Given the description of an element on the screen output the (x, y) to click on. 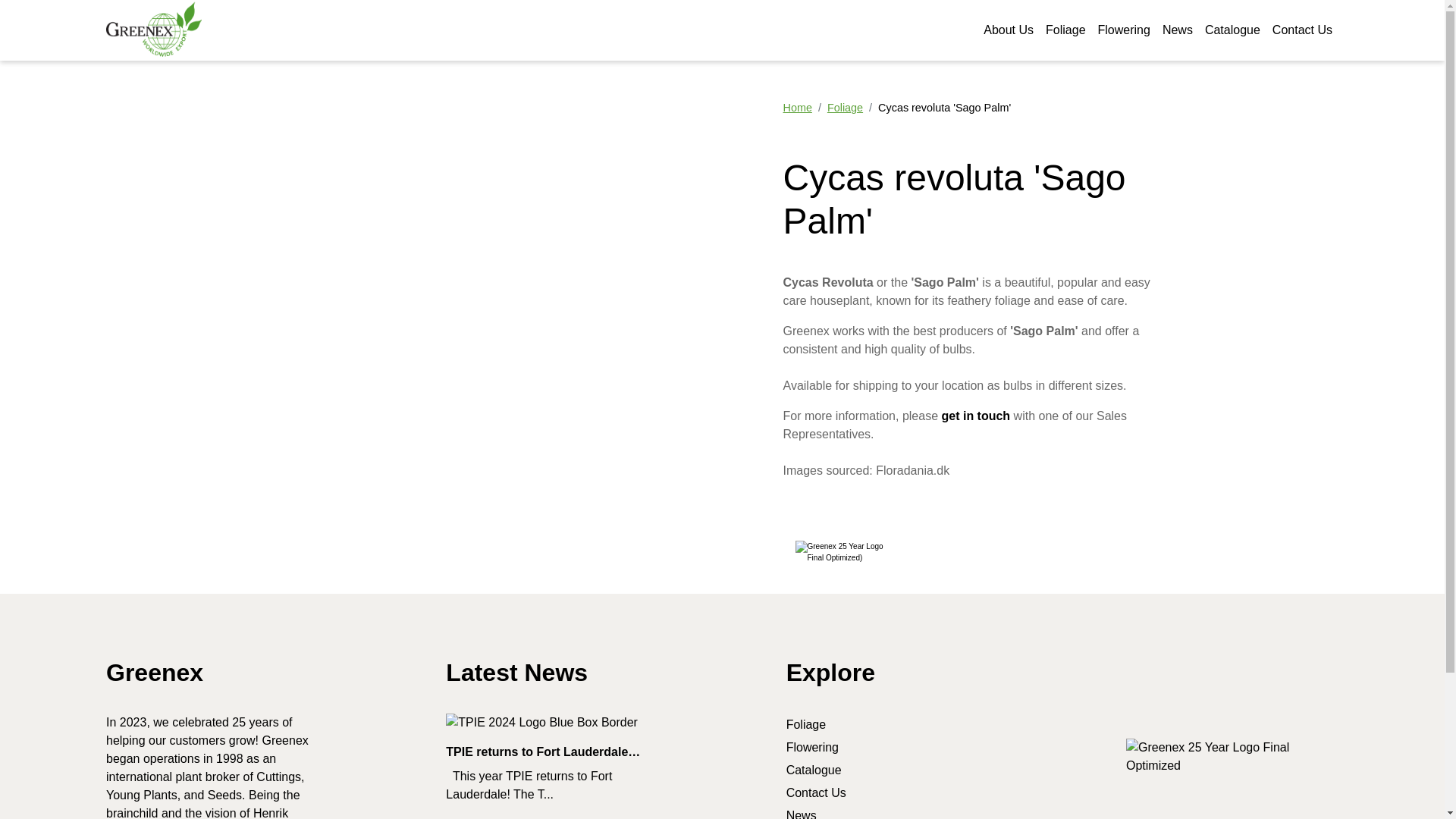
Flowering (1124, 30)
Catalogue (1232, 30)
News (1177, 30)
Contact Us (815, 792)
Foliage (845, 108)
get in touch (975, 415)
Foliage (805, 724)
Contact Us (1302, 30)
TPIE returns to Fort Lauderdale 2024! (551, 785)
Contact Us (975, 415)
